Given the description of an element on the screen output the (x, y) to click on. 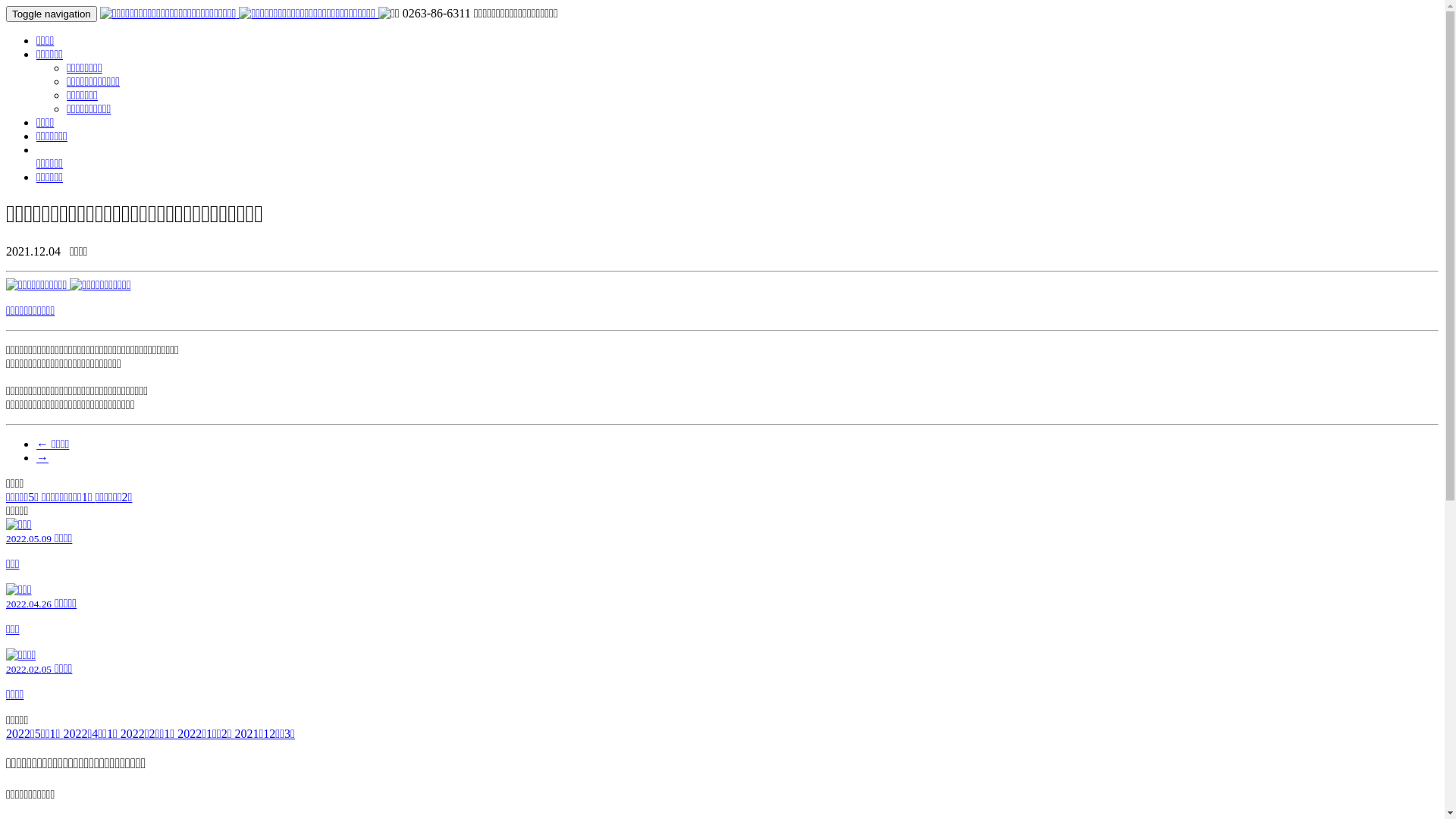
Toggle navigation Element type: text (51, 13)
